Given the description of an element on the screen output the (x, y) to click on. 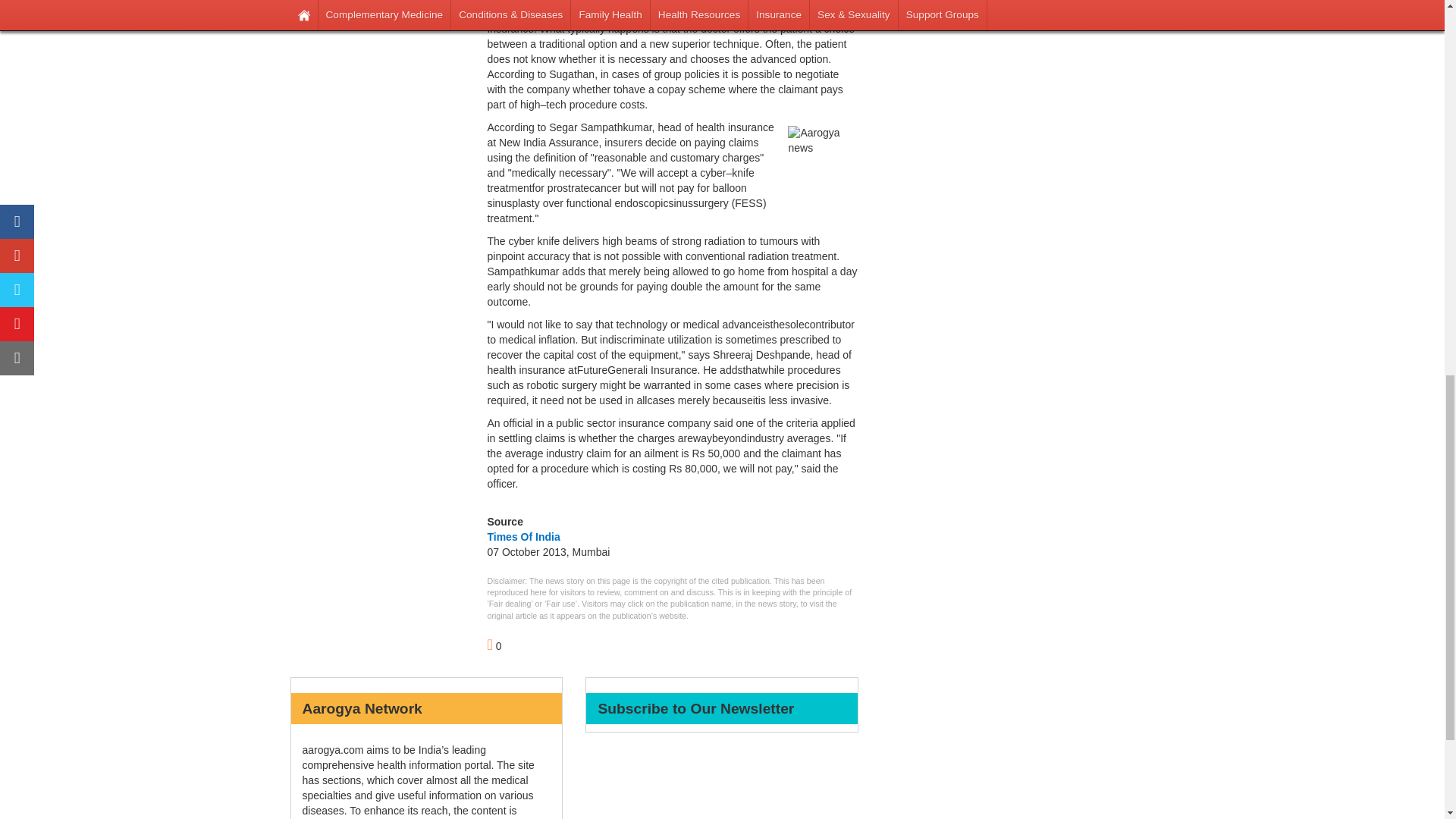
Aarogya news (821, 159)
